Given the description of an element on the screen output the (x, y) to click on. 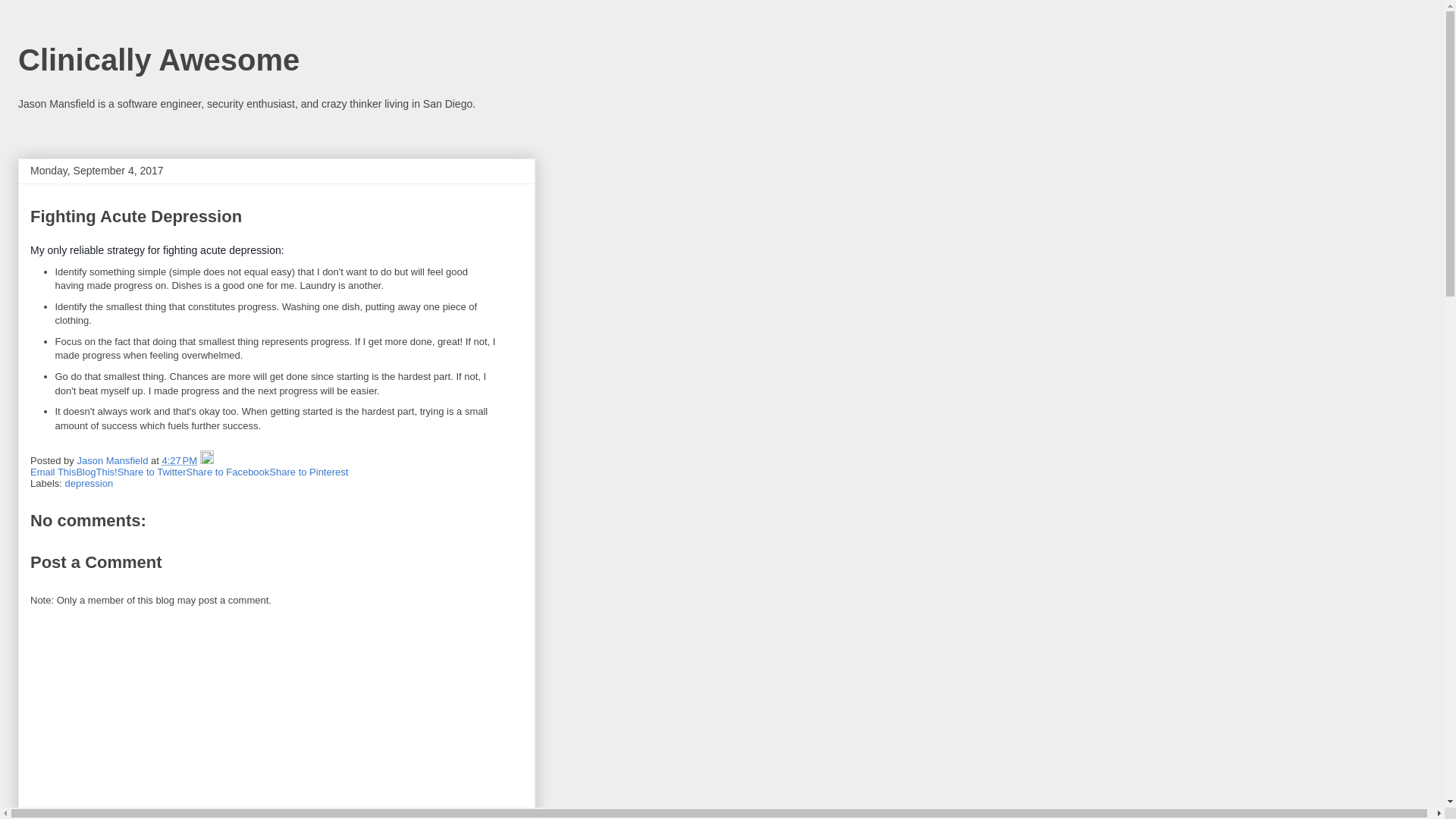
Share to Pinterest (308, 471)
depression (89, 482)
Email This (52, 471)
BlogThis! (95, 471)
Jason Mansfield (114, 460)
Edit Post (207, 460)
Share to Twitter (151, 471)
author profile (114, 460)
Clinically Awesome (158, 59)
Share to Pinterest (308, 471)
permanent link (178, 460)
Share to Twitter (151, 471)
BlogThis! (95, 471)
Share to Facebook (227, 471)
